Given the description of an element on the screen output the (x, y) to click on. 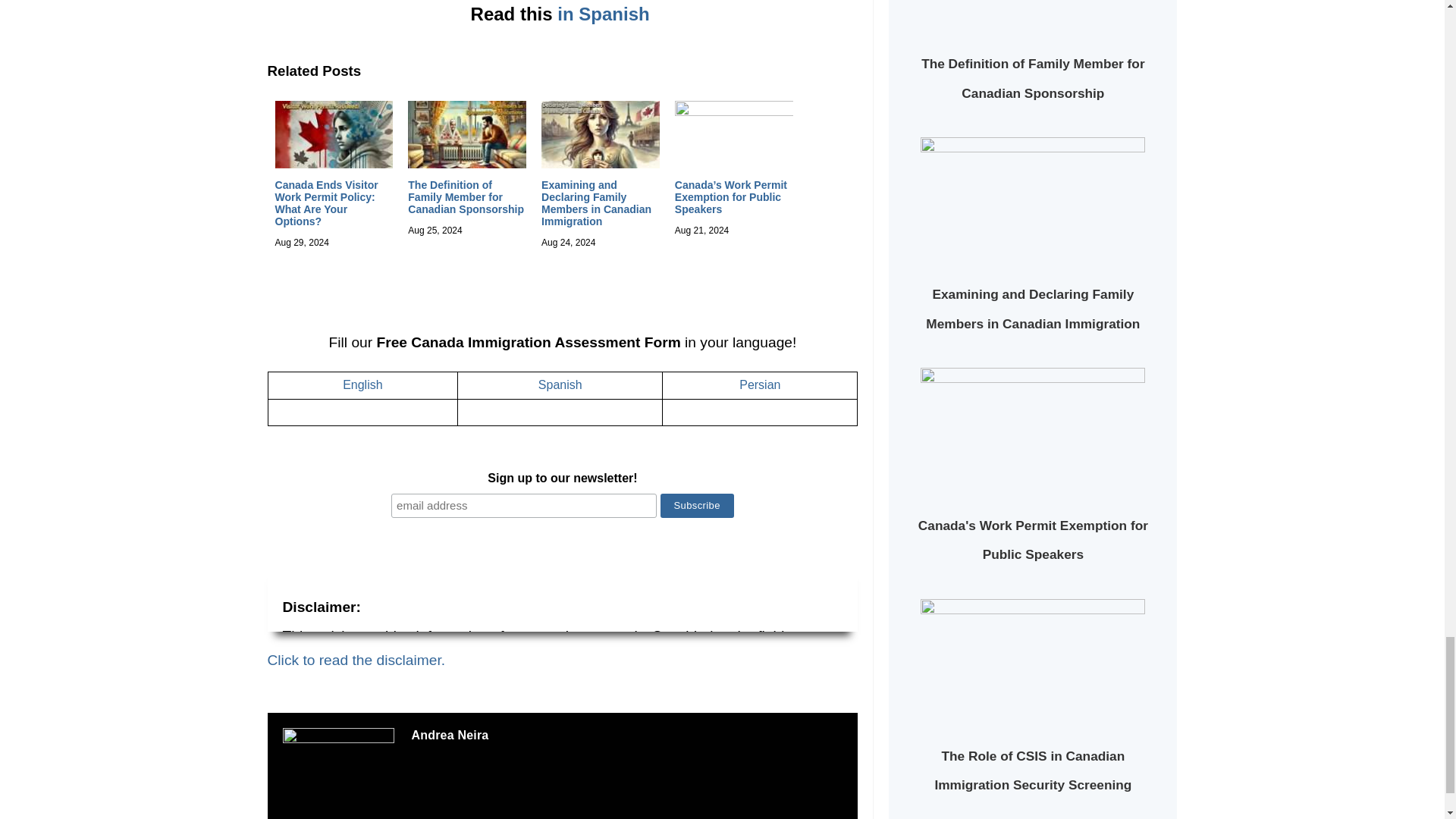
The Definition of Family Member for Canadian Sponsorship (465, 197)
Subscribe (697, 505)
